Given the description of an element on the screen output the (x, y) to click on. 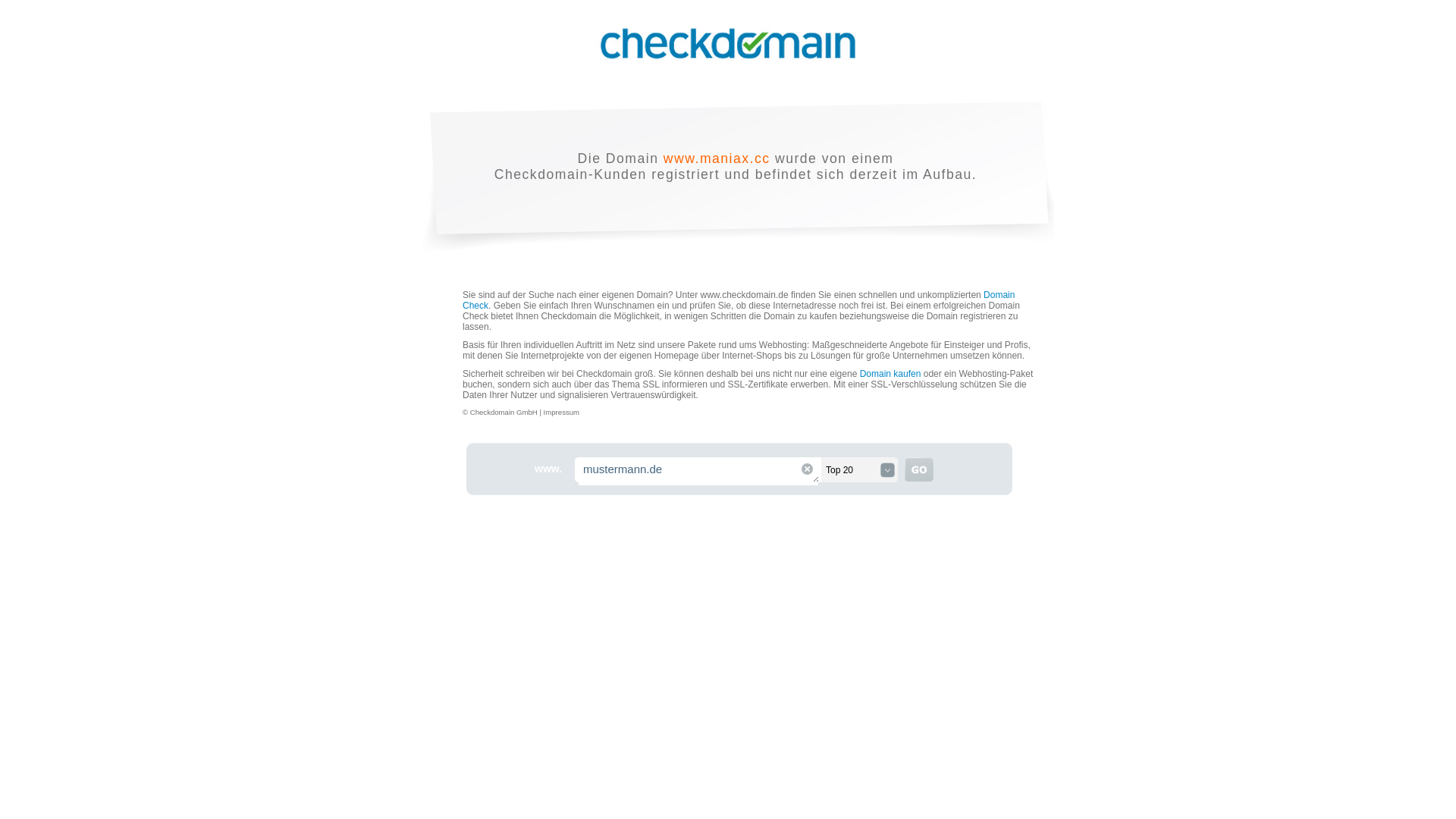
  Element type: text (918, 469)
  Element type: text (806, 468)
Top 20
  Element type: text (861, 470)
Impressum Element type: text (561, 411)
Domain kaufen Element type: text (890, 373)
Domain Check Element type: text (738, 299)
